Given the description of an element on the screen output the (x, y) to click on. 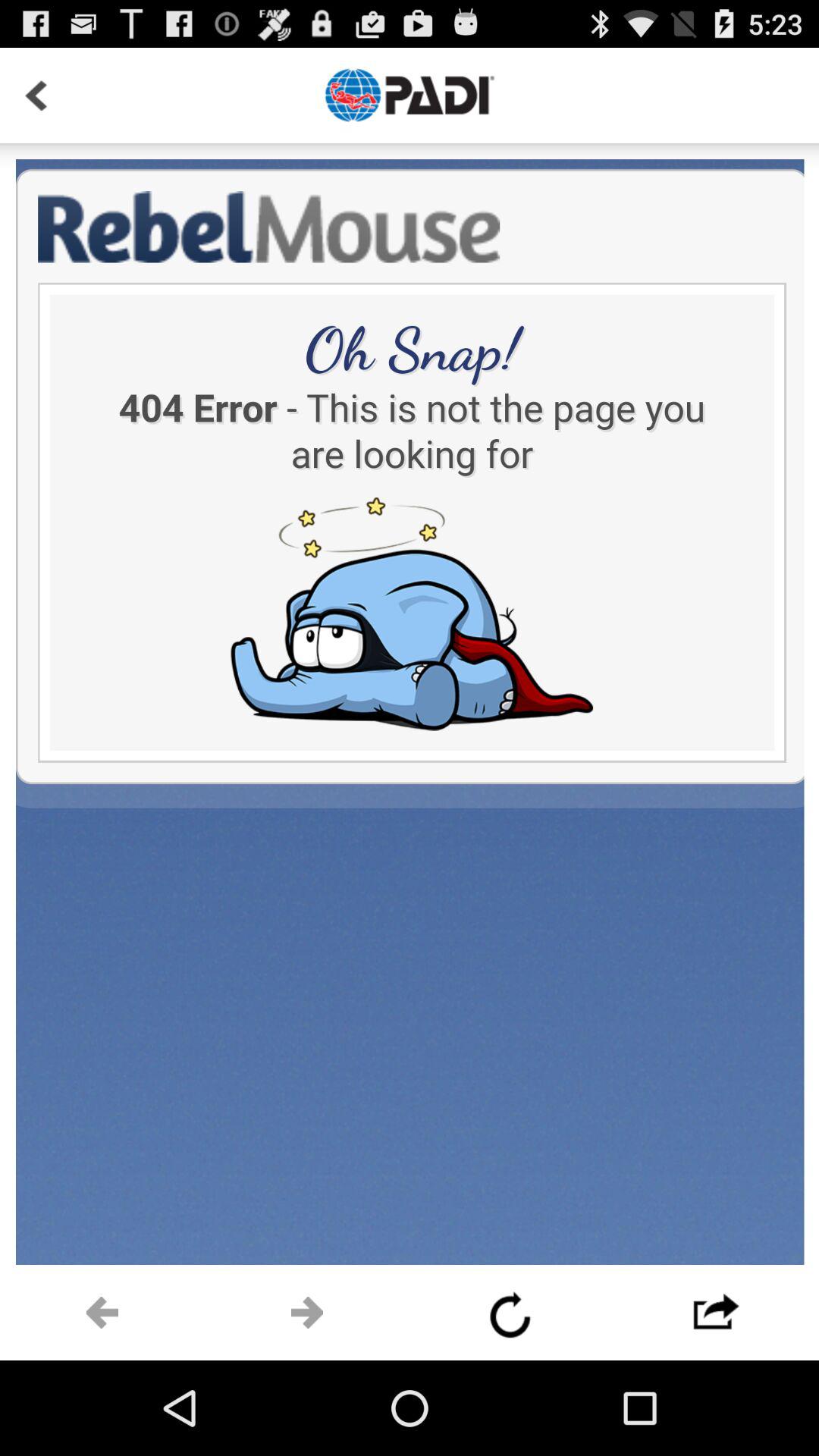
refresh (511, 1312)
